Given the description of an element on the screen output the (x, y) to click on. 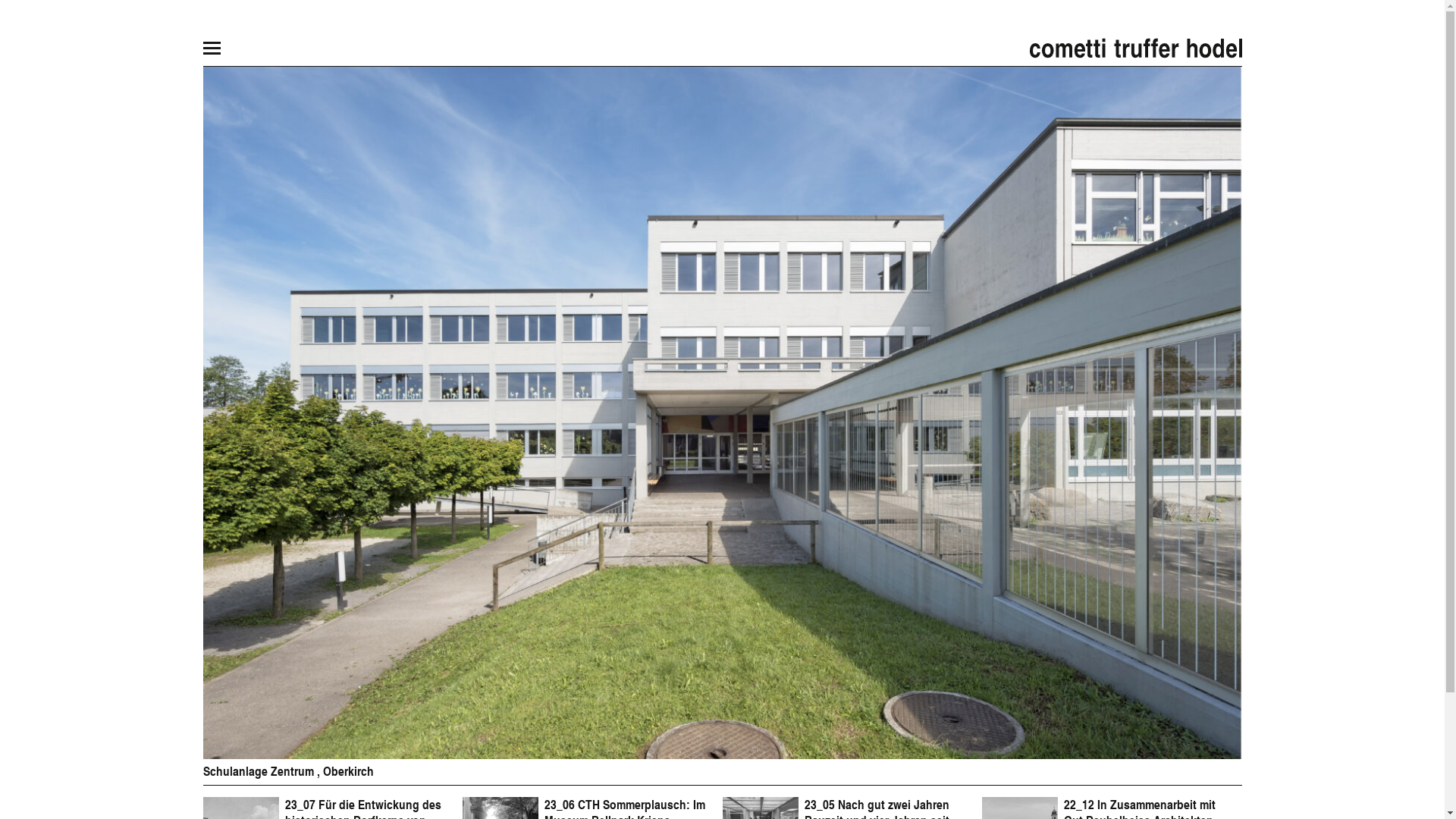
Schulanlage Zentrum , Oberkirch Element type: text (722, 594)
